Given the description of an element on the screen output the (x, y) to click on. 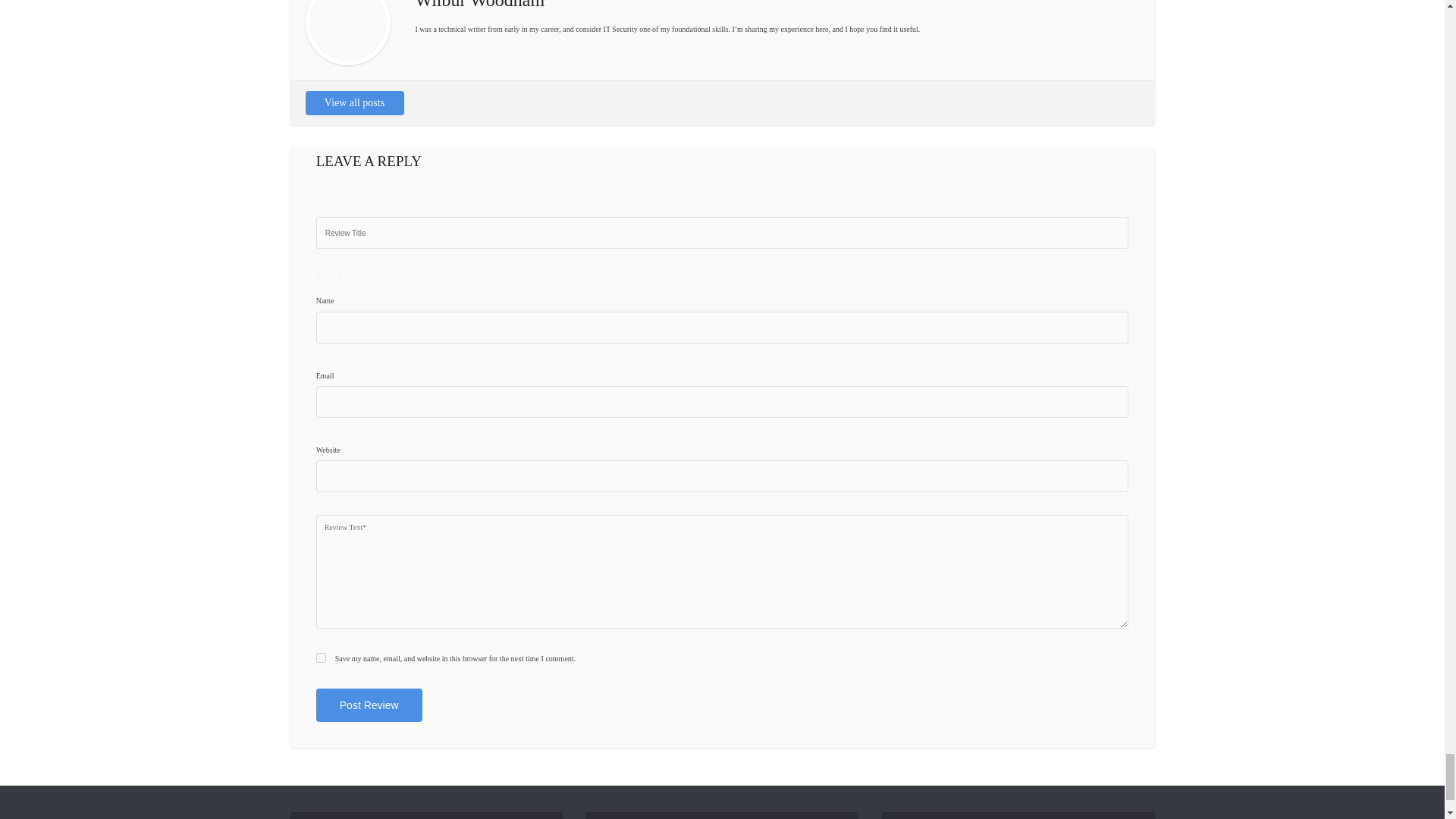
yes (320, 657)
Post Review (368, 704)
